Given the description of an element on the screen output the (x, y) to click on. 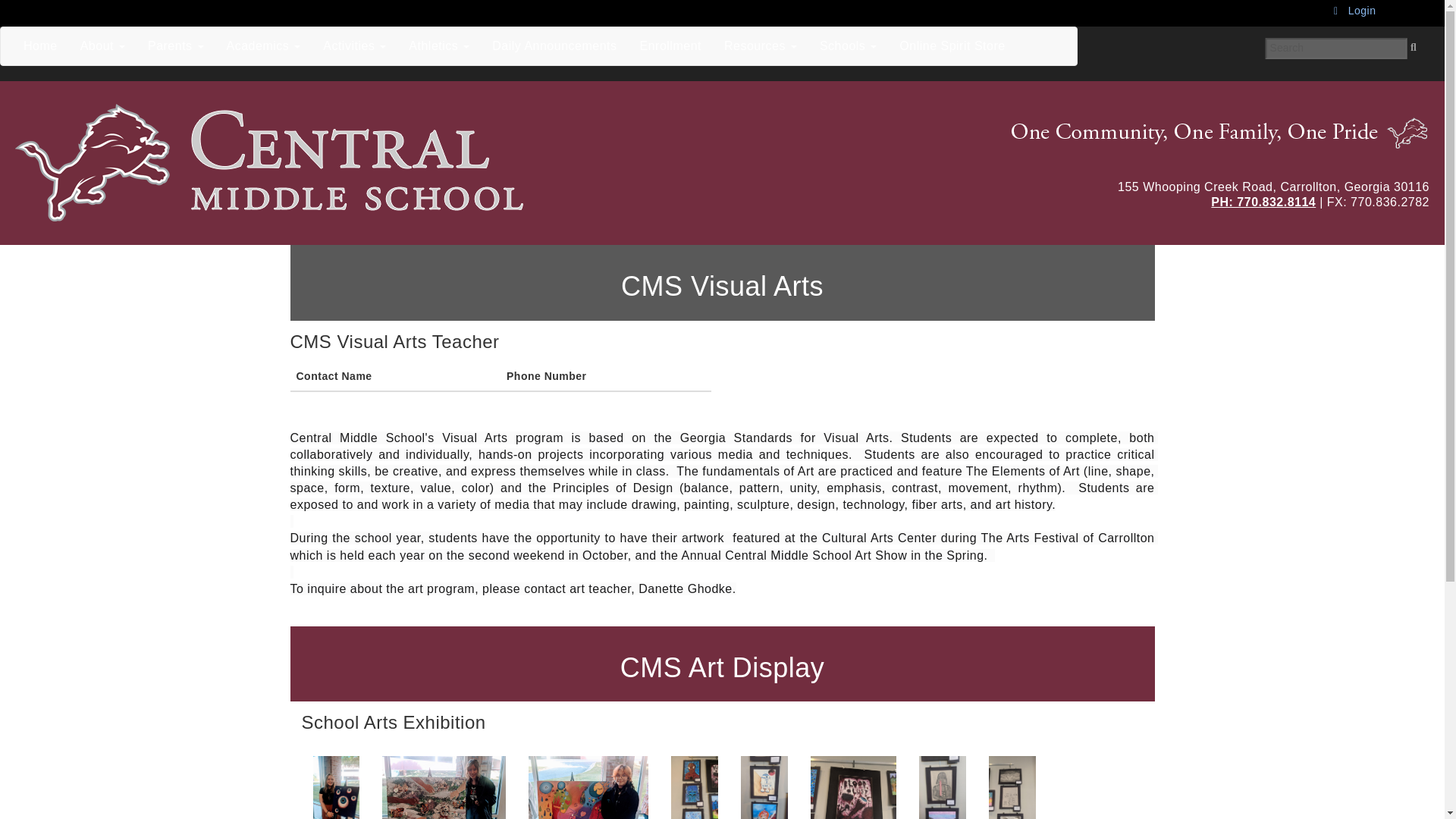
Academics (264, 46)
Home (339, 162)
Parents (175, 46)
About (102, 46)
Home (39, 46)
Motto (1202, 132)
Activities (354, 46)
  Login (1354, 10)
